Given the description of an element on the screen output the (x, y) to click on. 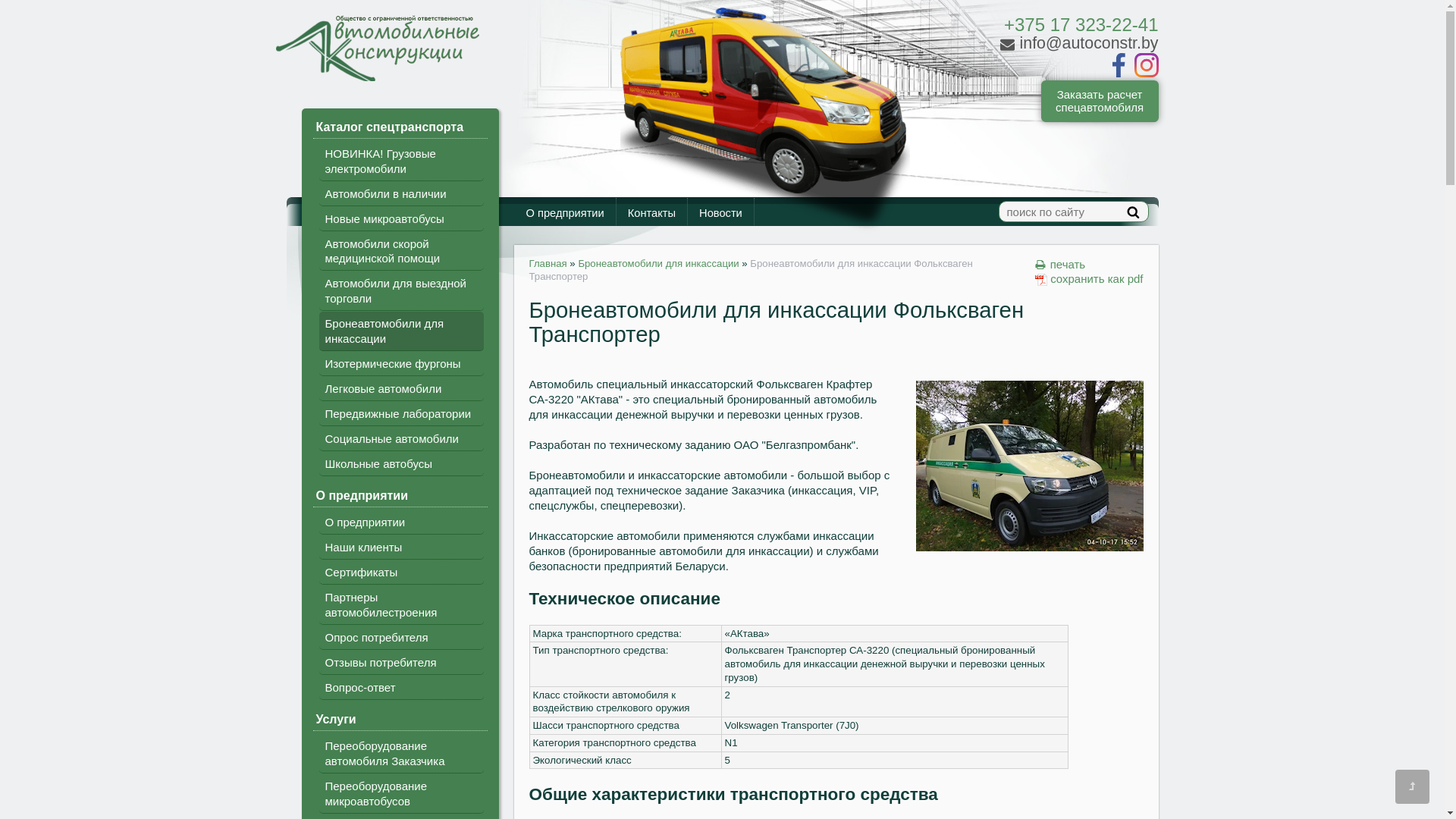
info@autoconstr.by Element type: text (1077, 43)
+375 17 323-22-41 Element type: text (1081, 24)
